Given the description of an element on the screen output the (x, y) to click on. 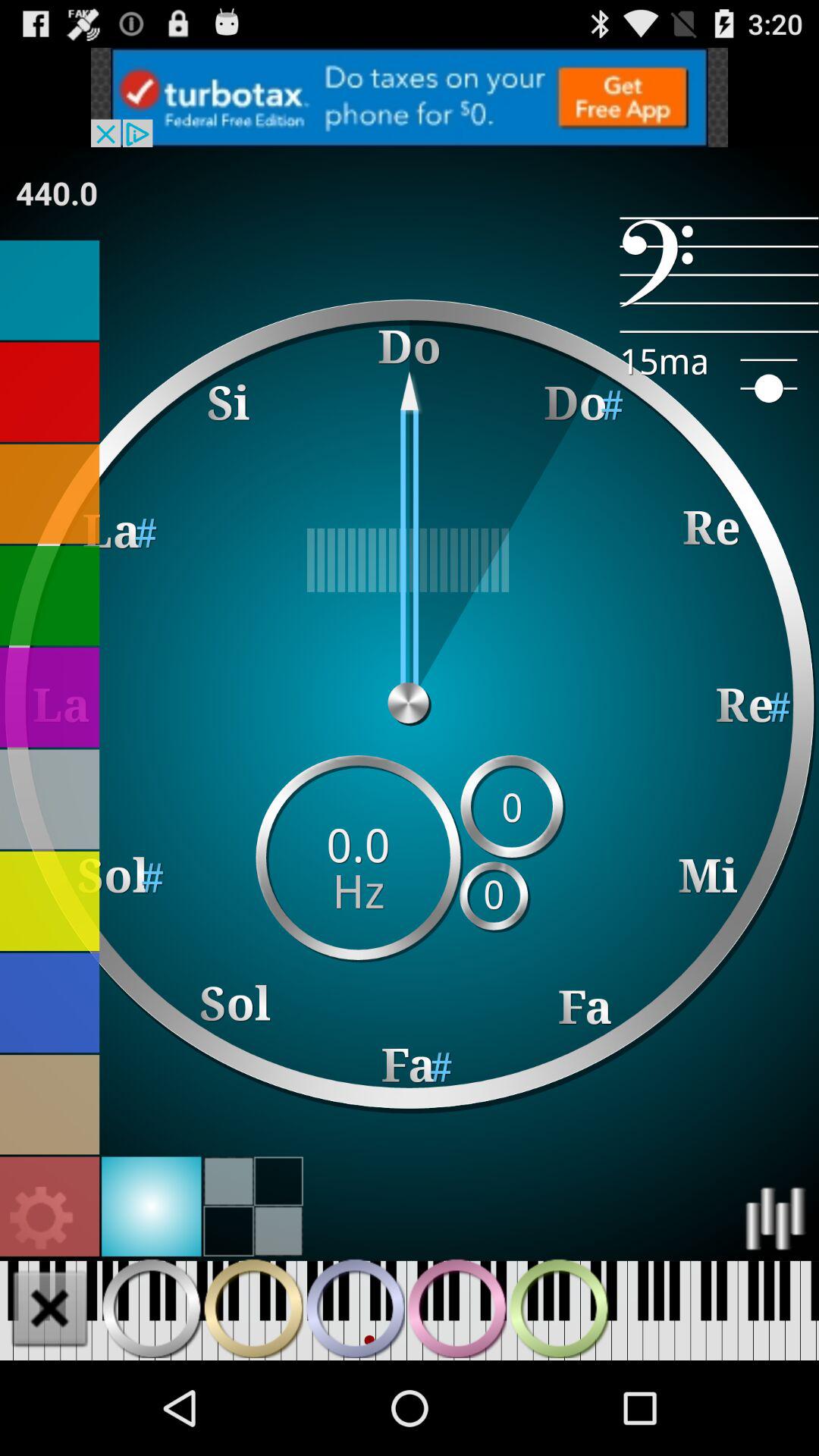
change color to green (49, 595)
